Given the description of an element on the screen output the (x, y) to click on. 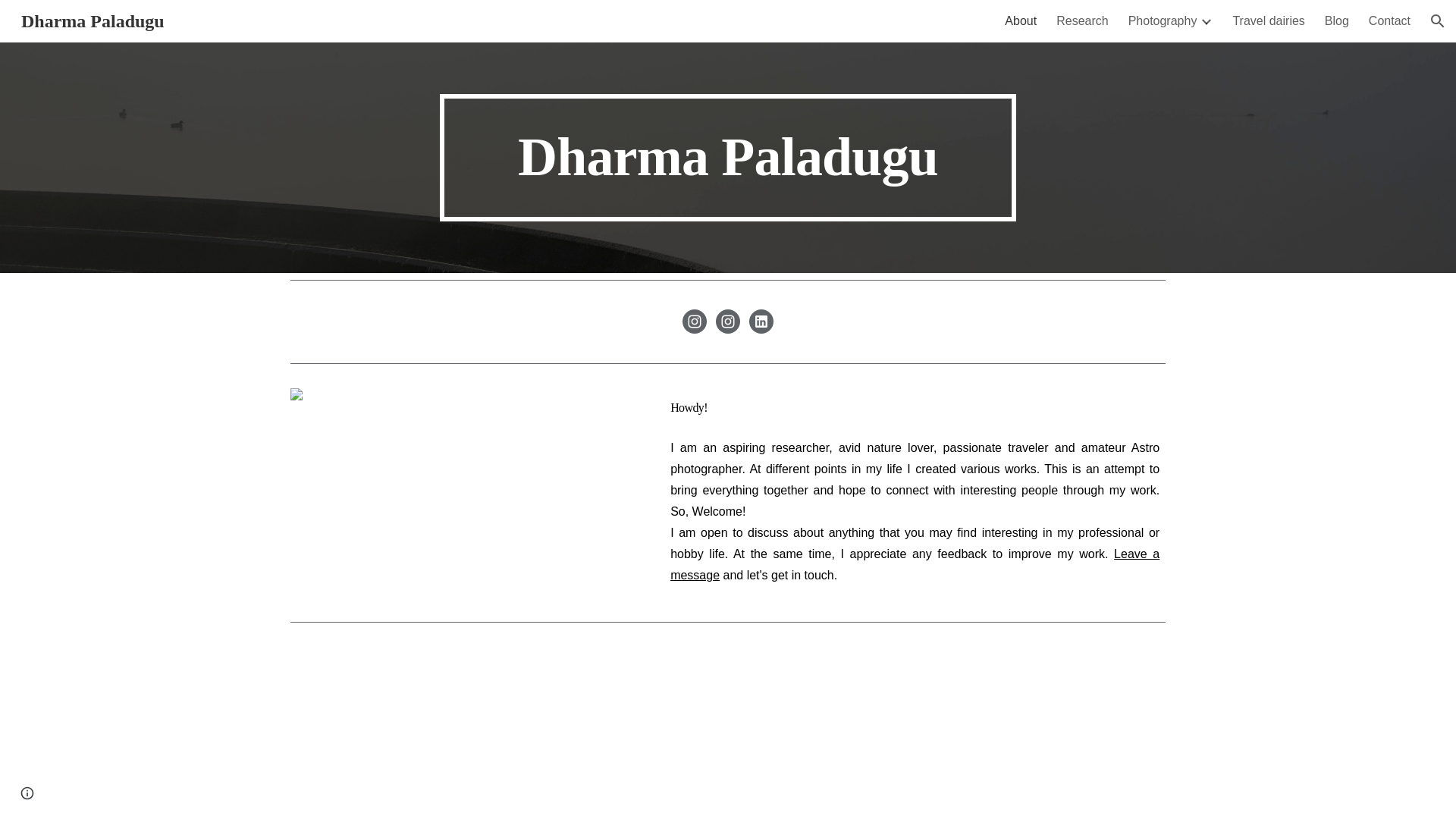
Contact (1389, 20)
Blog (1336, 20)
Dharma Paladugu (92, 19)
Photography (1162, 20)
About (1020, 20)
Research (1082, 20)
Travel dairies (1267, 20)
